Given the description of an element on the screen output the (x, y) to click on. 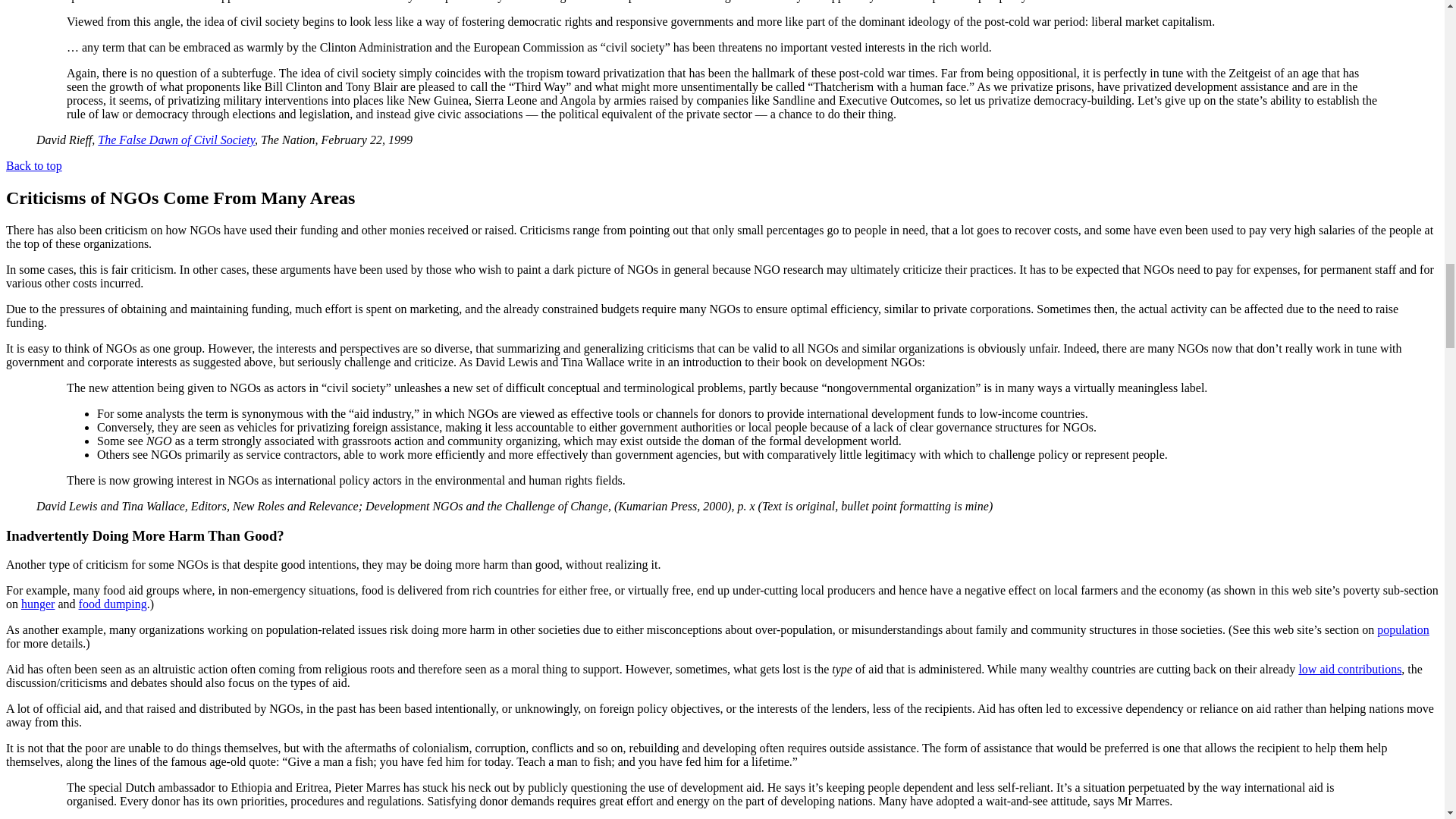
Back to top (33, 164)
hunger (38, 603)
low aid contributions (1349, 668)
food dumping (112, 603)
population (1402, 629)
The False Dawn of Civil Society (175, 139)
